Given the description of an element on the screen output the (x, y) to click on. 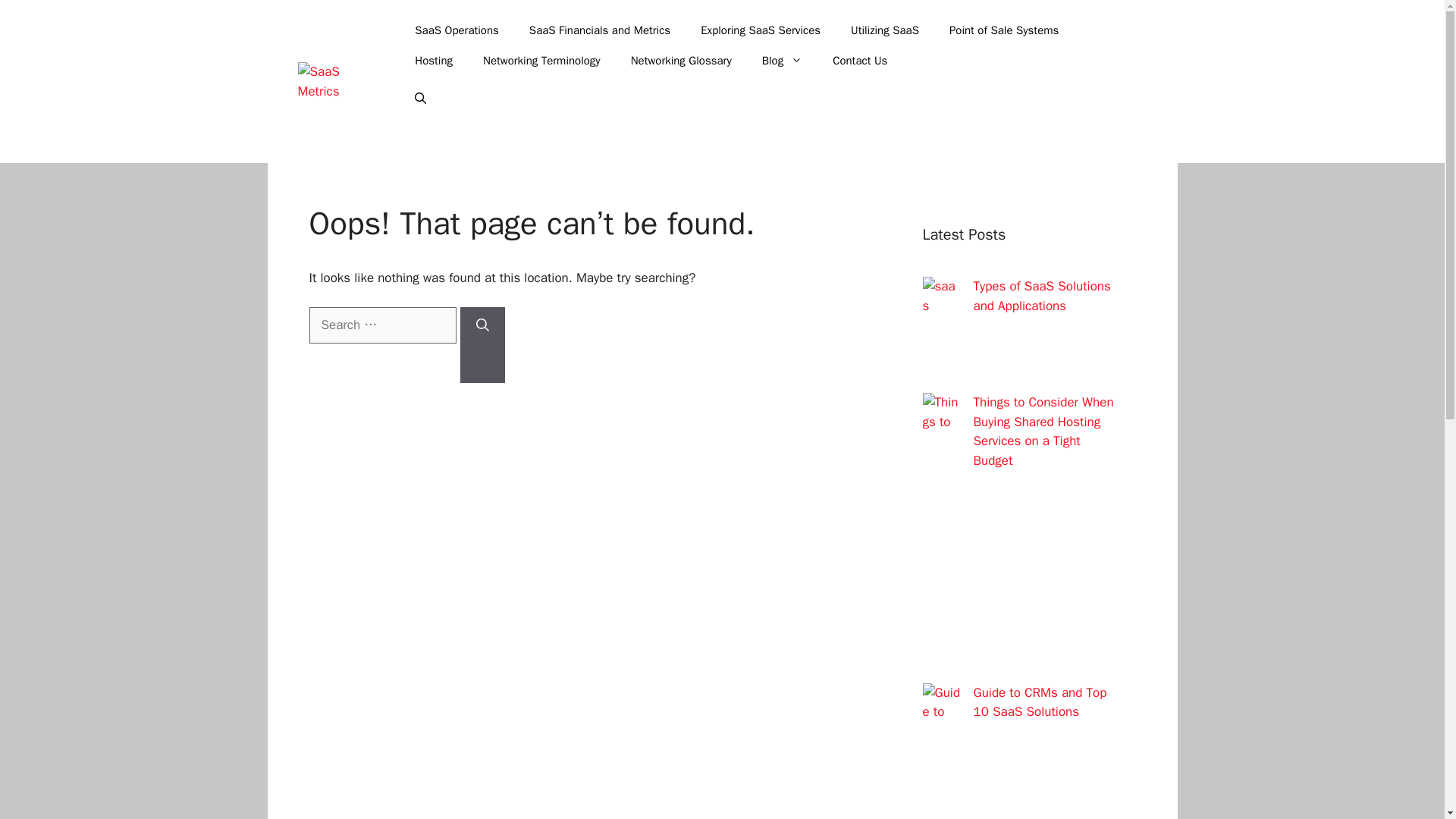
SaaS Operations (455, 29)
Exploring SaaS Services (760, 29)
Search for: (382, 325)
Networking Glossary (680, 60)
Point of Sale Systems (1004, 29)
Utilizing SaaS (884, 29)
SaaS Financials and Metrics (599, 29)
Hosting (432, 60)
Networking Terminology (541, 60)
